Given the description of an element on the screen output the (x, y) to click on. 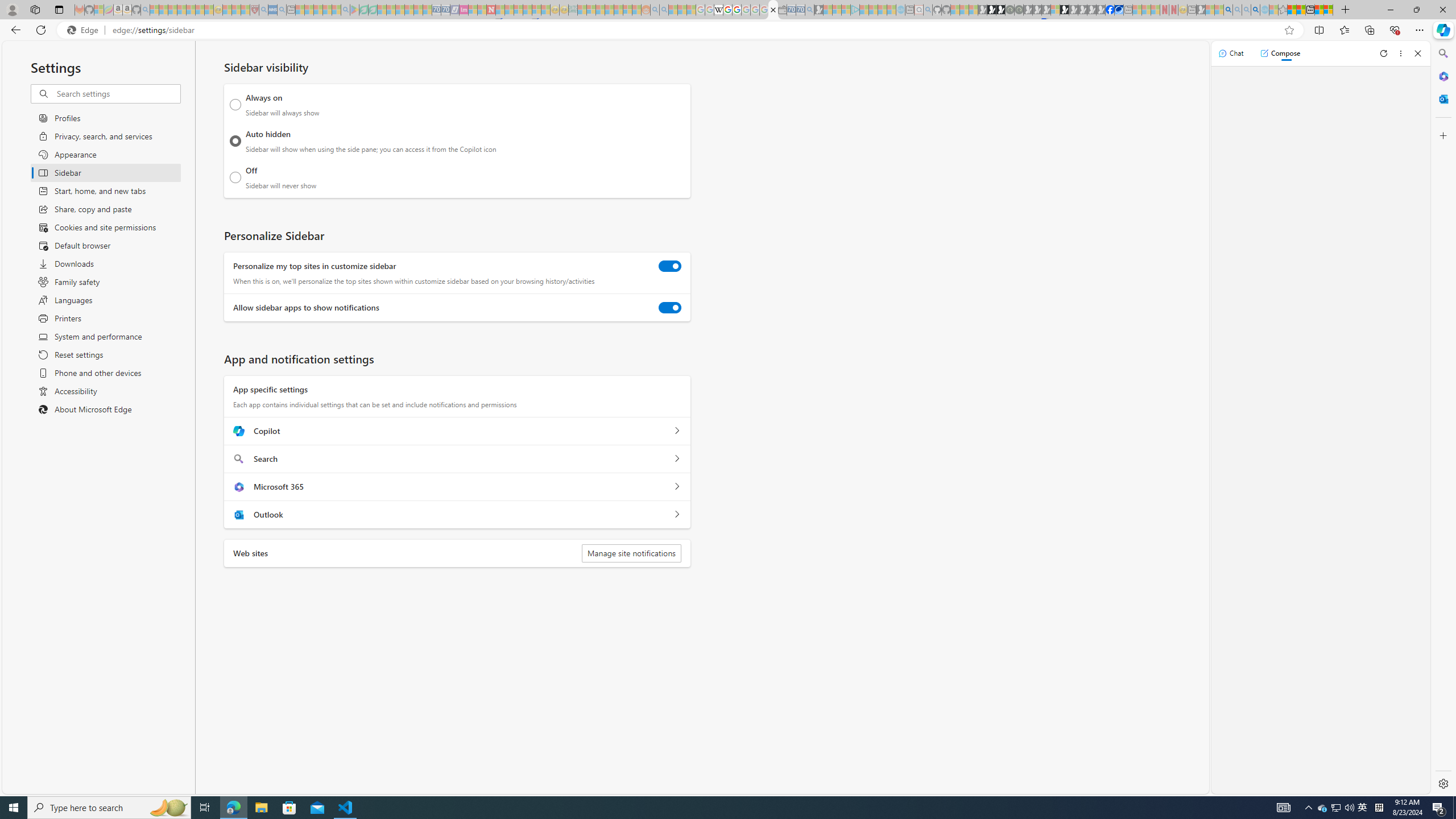
github - Search - Sleeping (927, 9)
Terms of Use Agreement - Sleeping (362, 9)
